Given the description of an element on the screen output the (x, y) to click on. 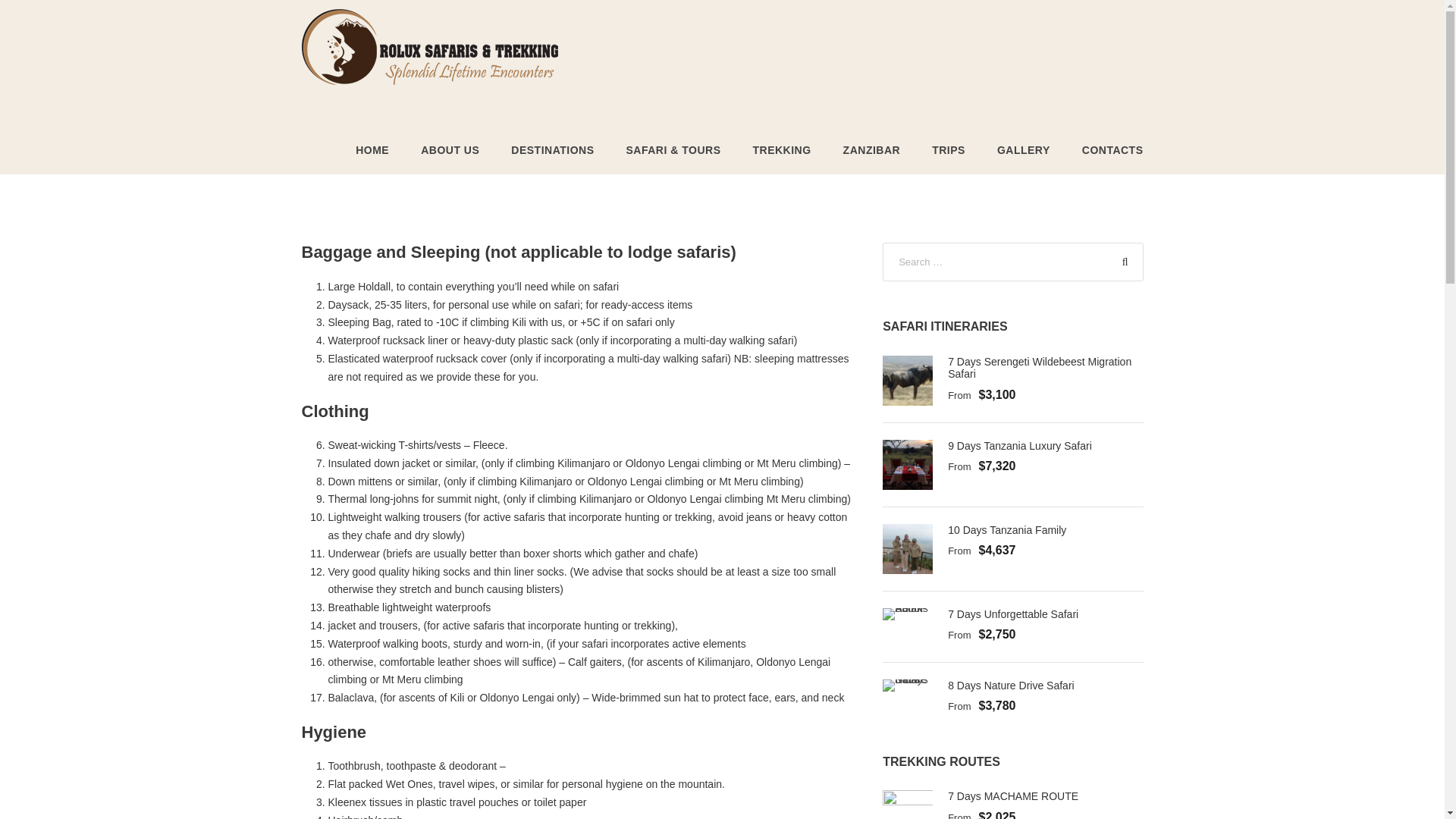
DESTINATIONS (552, 157)
ABOUT US (449, 157)
HOME (371, 157)
logo (429, 47)
